Given the description of an element on the screen output the (x, y) to click on. 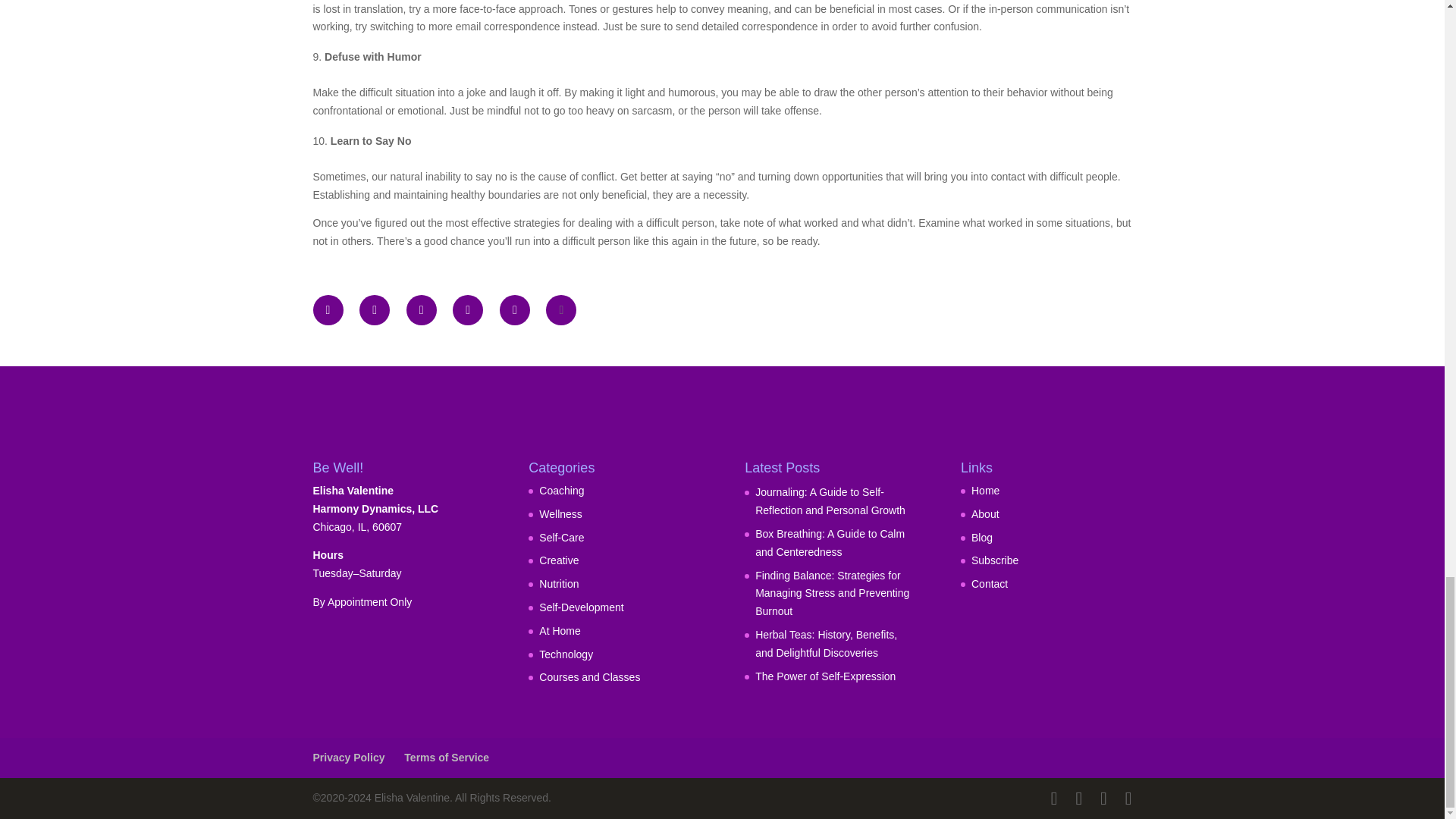
Box Breathing: A Guide to Calm and Centeredness (829, 542)
Coaching (560, 490)
Self-Development (580, 607)
Courses and Classes (589, 676)
Technology (565, 654)
At Home (558, 630)
Self-Care (560, 537)
Creative (558, 560)
Wellness (560, 513)
Journaling: A Guide to Self-Reflection and Personal Growth (830, 501)
Herbal Teas: History, Benefits, and Delightful Discoveries (825, 643)
Nutrition (558, 583)
The Power of Self-Expression (825, 676)
